Given the description of an element on the screen output the (x, y) to click on. 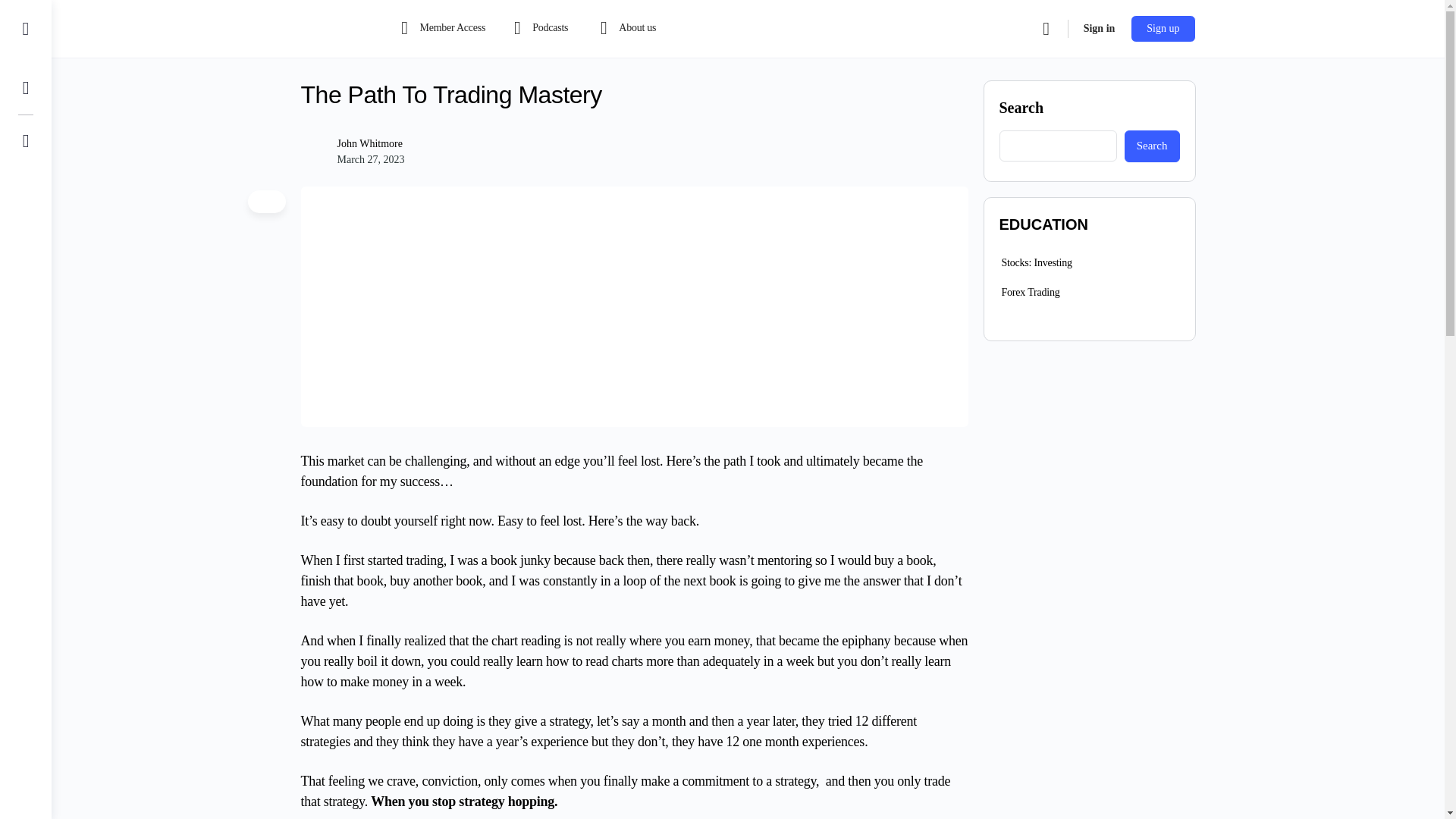
Member Access (440, 28)
Sign up (1163, 28)
Sign in (1099, 28)
Podcasts (537, 28)
About us (631, 28)
March 27, 2023 (370, 159)
John Whitmore (368, 143)
